Given the description of an element on the screen output the (x, y) to click on. 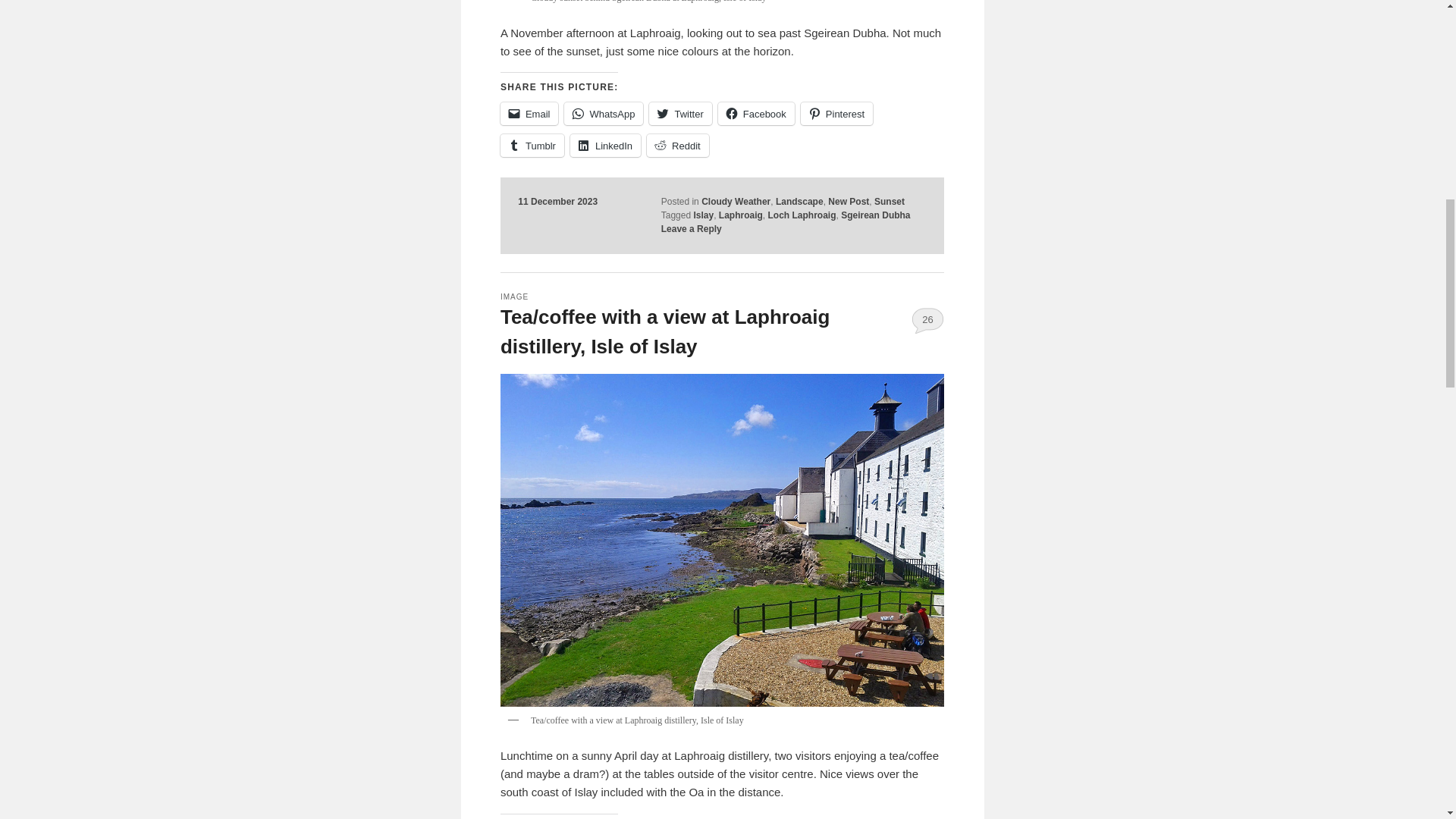
Cloudy Weather (735, 201)
Leave a Reply (691, 228)
Click to share on Facebook (755, 113)
WhatsApp (603, 113)
Landscape (800, 201)
Click to share on Twitter (680, 113)
Click to share on Tumblr (532, 145)
Facebook (755, 113)
Email (529, 113)
LinkedIn (605, 145)
Click to share on LinkedIn (605, 145)
Tumblr (532, 145)
Reddit (677, 145)
Islay (703, 214)
11 December 2023 (557, 201)
